Given the description of an element on the screen output the (x, y) to click on. 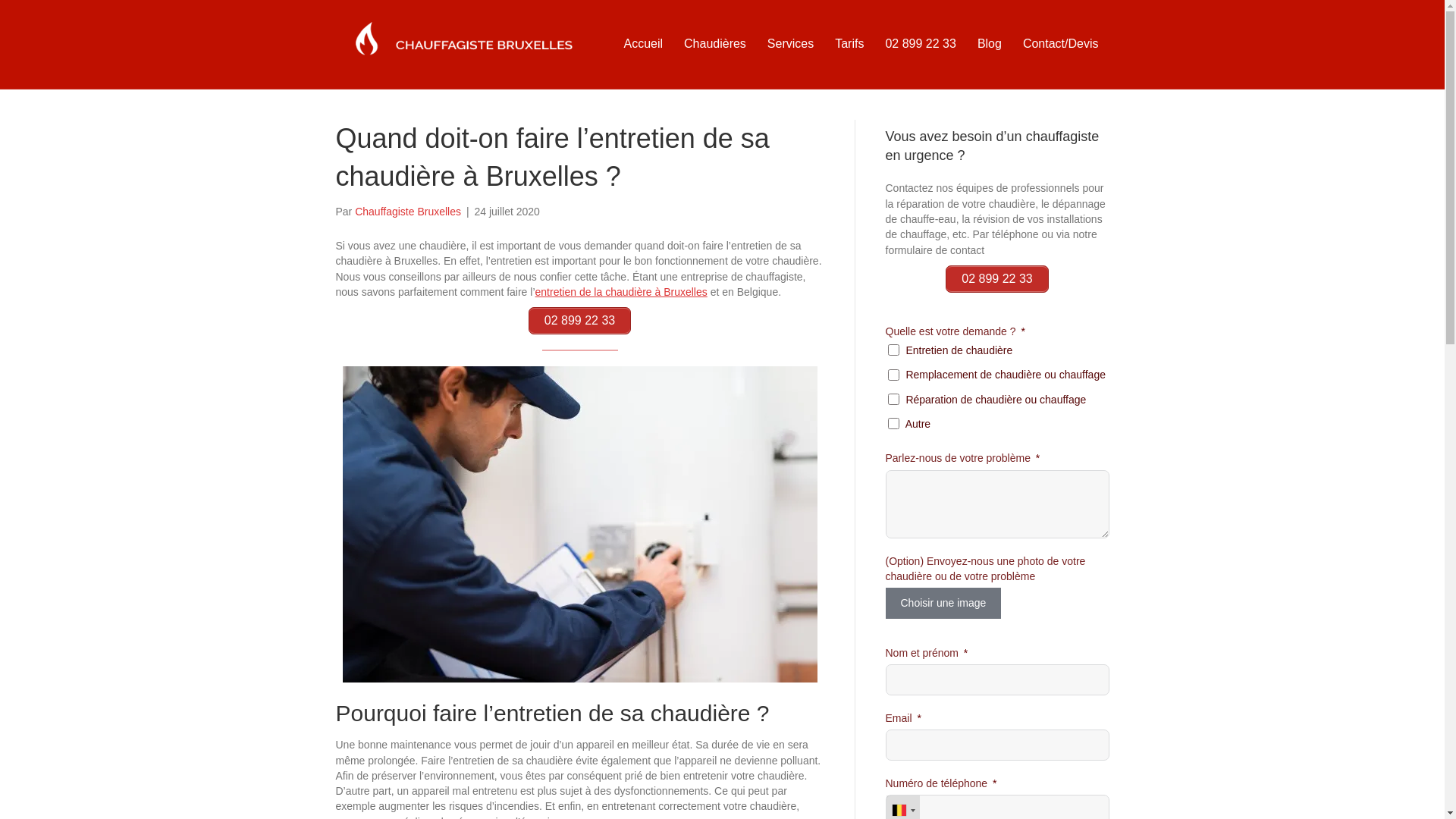
Accueil Element type: text (642, 43)
Chauffagiste Bruxelles Element type: text (407, 211)
Contact/Devis Element type: text (1060, 43)
Blog Element type: text (989, 43)
02 899 22 33 Element type: text (579, 320)
02 899 22 33 Element type: text (996, 278)
Services Element type: text (790, 43)
02 899 22 33 Element type: text (920, 43)
Tarifs Element type: text (849, 43)
